Given the description of an element on the screen output the (x, y) to click on. 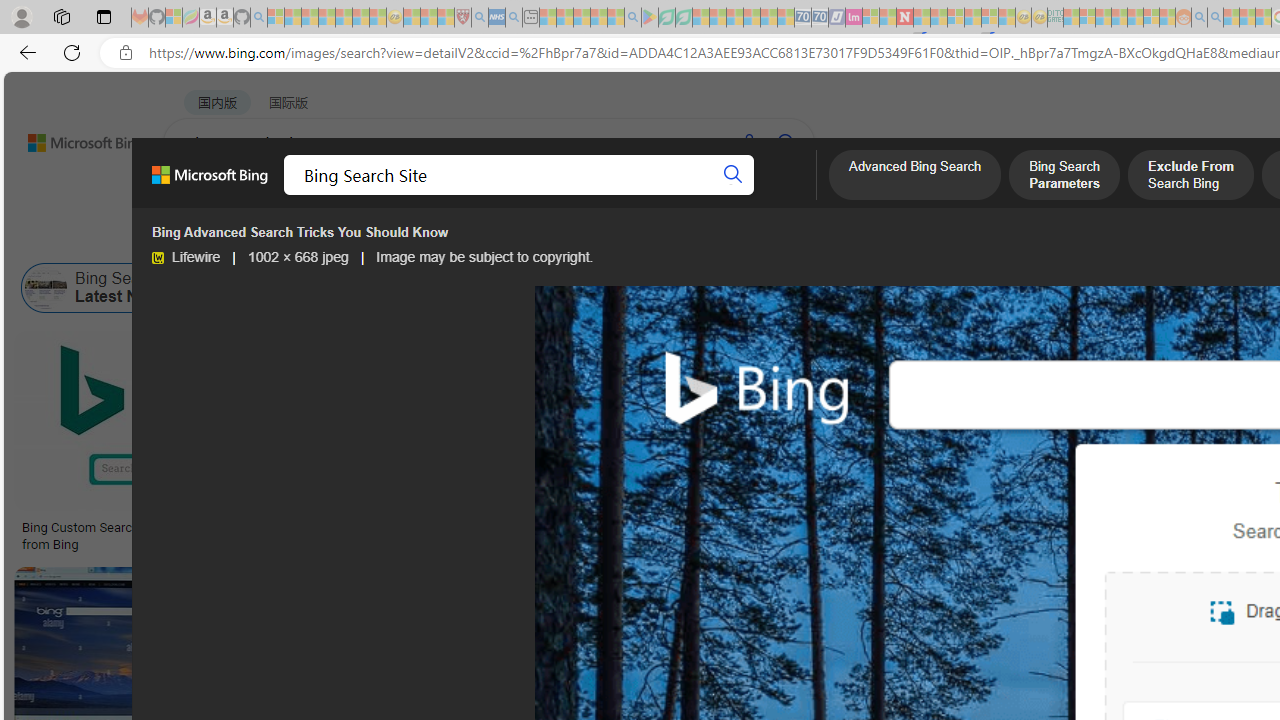
Bing Custom Search: A New Site Search Solution from Bing (169, 535)
Layout (443, 237)
WEB (201, 195)
Bing Home Screen (625, 287)
Bing Search Terms (1025, 287)
Bing Search Terms (1081, 287)
Lifewire Lifewire (185, 257)
Class: item col (1081, 287)
